Given the description of an element on the screen output the (x, y) to click on. 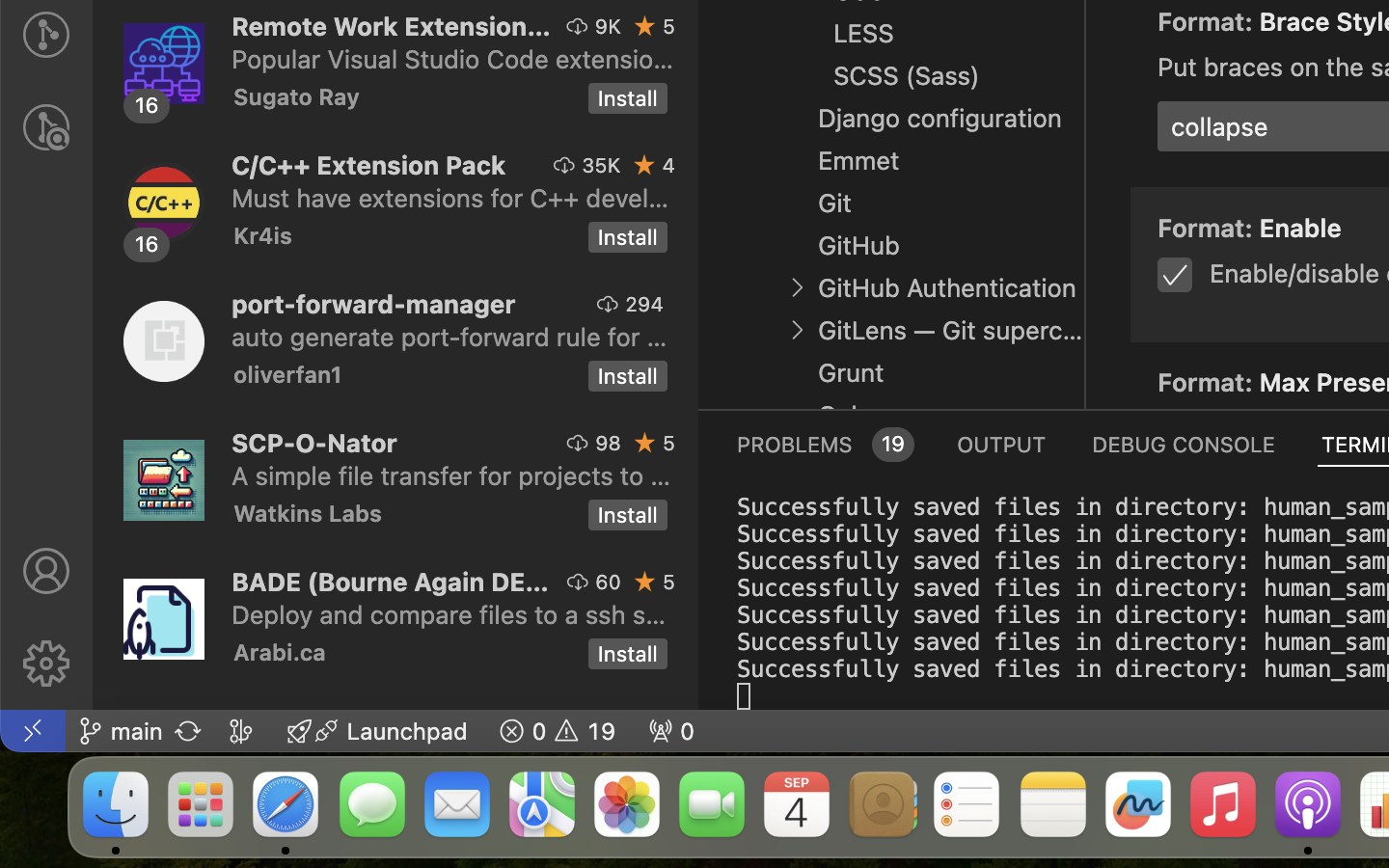
16 Element type: AXStaticText (147, 243)
60 Element type: AXStaticText (608, 581)
C/C++ Extension Pack Element type: AXStaticText (369, 164)
Sugato Ray Element type: AXStaticText (296, 95)
auto generate port-forward rule for your vscode ssh connection. Element type: AXStaticText (449, 336)
